Given the description of an element on the screen output the (x, y) to click on. 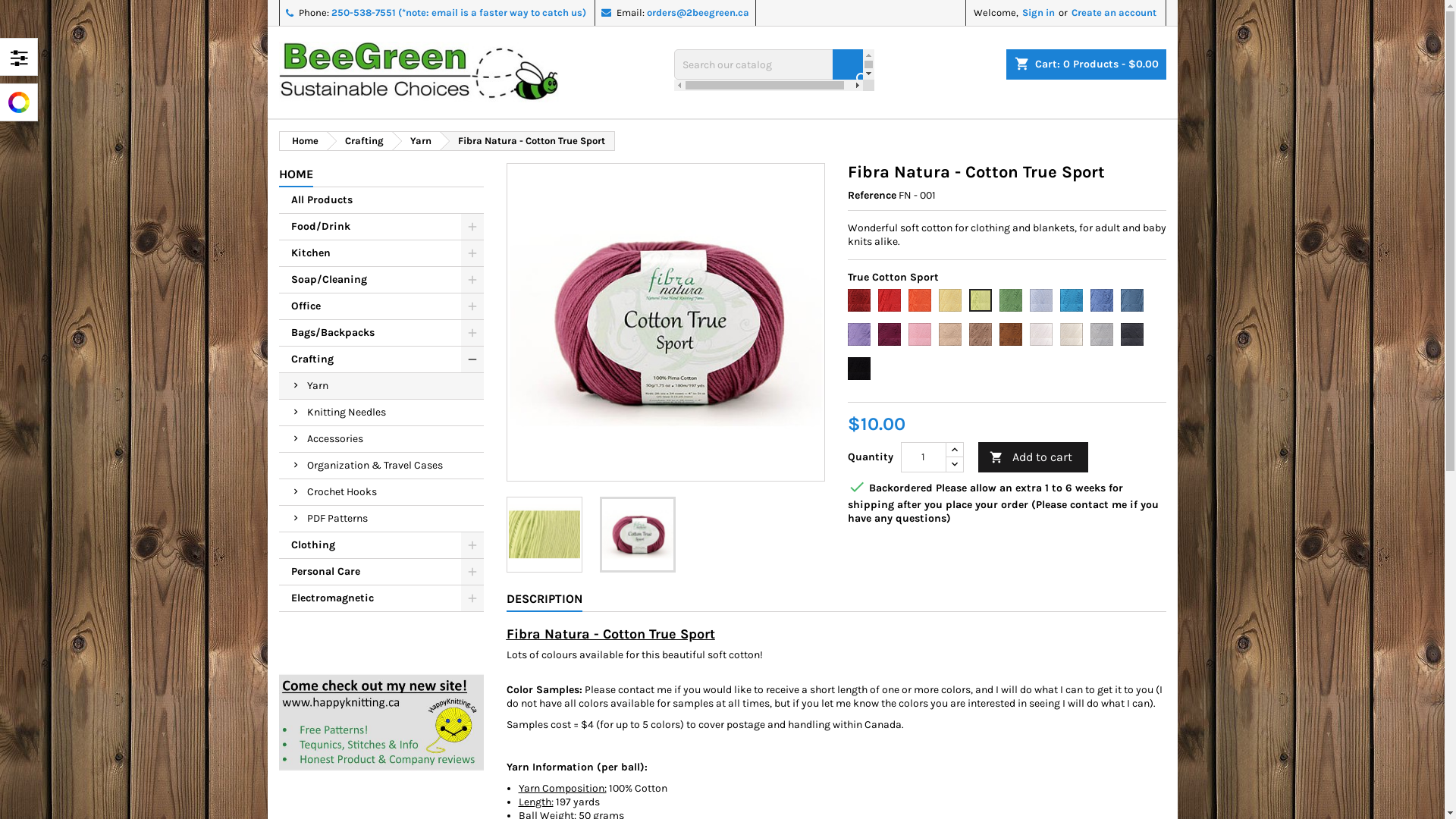
Crafting Element type: text (381, 359)
Refresh Element type: text (24, 9)
250-538-7551 (*note: email is a faster way to catch us) Element type: text (457, 12)
Yarn Element type: text (381, 386)
HappyKnitting Element type: hover (381, 721)
Home Element type: text (302, 140)
HappyKnitting Element type: hover (381, 722)
Kitchen Element type: text (381, 253)
shopping_cart
Cart: 0 Products - $0.00 Element type: text (1085, 64)
orders@2beegreen.ca Element type: text (697, 12)
Personal Care Element type: text (381, 571)
Create an account Element type: text (1113, 12)
Organization & Travel Cases Element type: text (381, 465)
Crafting Element type: text (358, 140)
Office Element type: text (381, 306)
Fibra Natura - Cotton True Sport Element type: hover (544, 534)
Fibra Natura - Cotton True Sport Element type: hover (664, 321)
Soap/Cleaning Element type: text (381, 279)
Accessories Element type: text (381, 439)
Sign in Element type: text (1038, 12)
Yarn Element type: text (415, 140)
All Products Element type: text (381, 200)
Clothing Element type: text (381, 545)
Crochet Hooks Element type: text (381, 492)
Electromagnetic Element type: text (381, 598)
Food/Drink Element type: text (381, 226)
Fibra Natura - Cotton True Sport Element type: text (527, 140)
HOME Element type: text (296, 175)
Bags/Backpacks Element type: text (381, 333)
PDF Patterns Element type: text (381, 518)
Knitting Needles Element type: text (381, 412)
Fibra Natura - Cotton True Sport Element type: hover (636, 534)
